Given the description of an element on the screen output the (x, y) to click on. 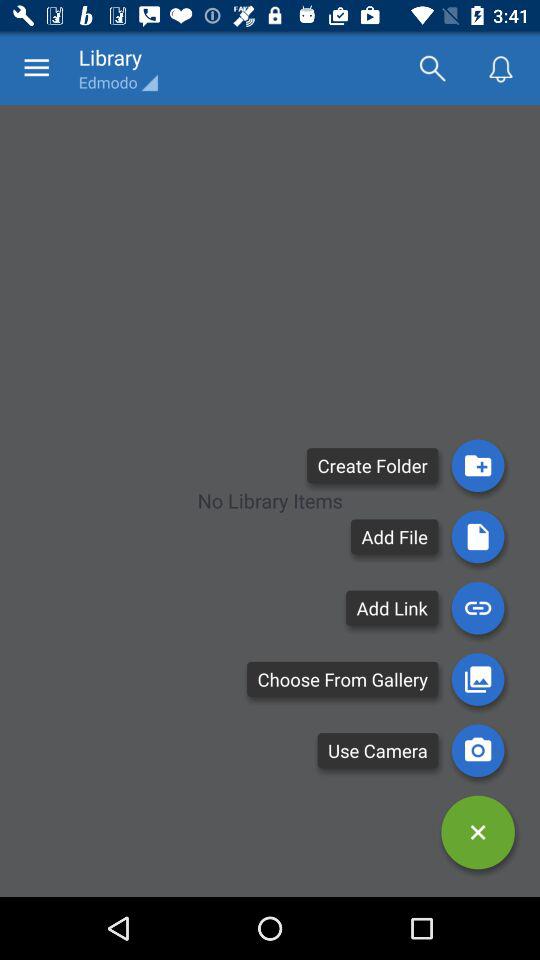
close down options (477, 832)
